Given the description of an element on the screen output the (x, y) to click on. 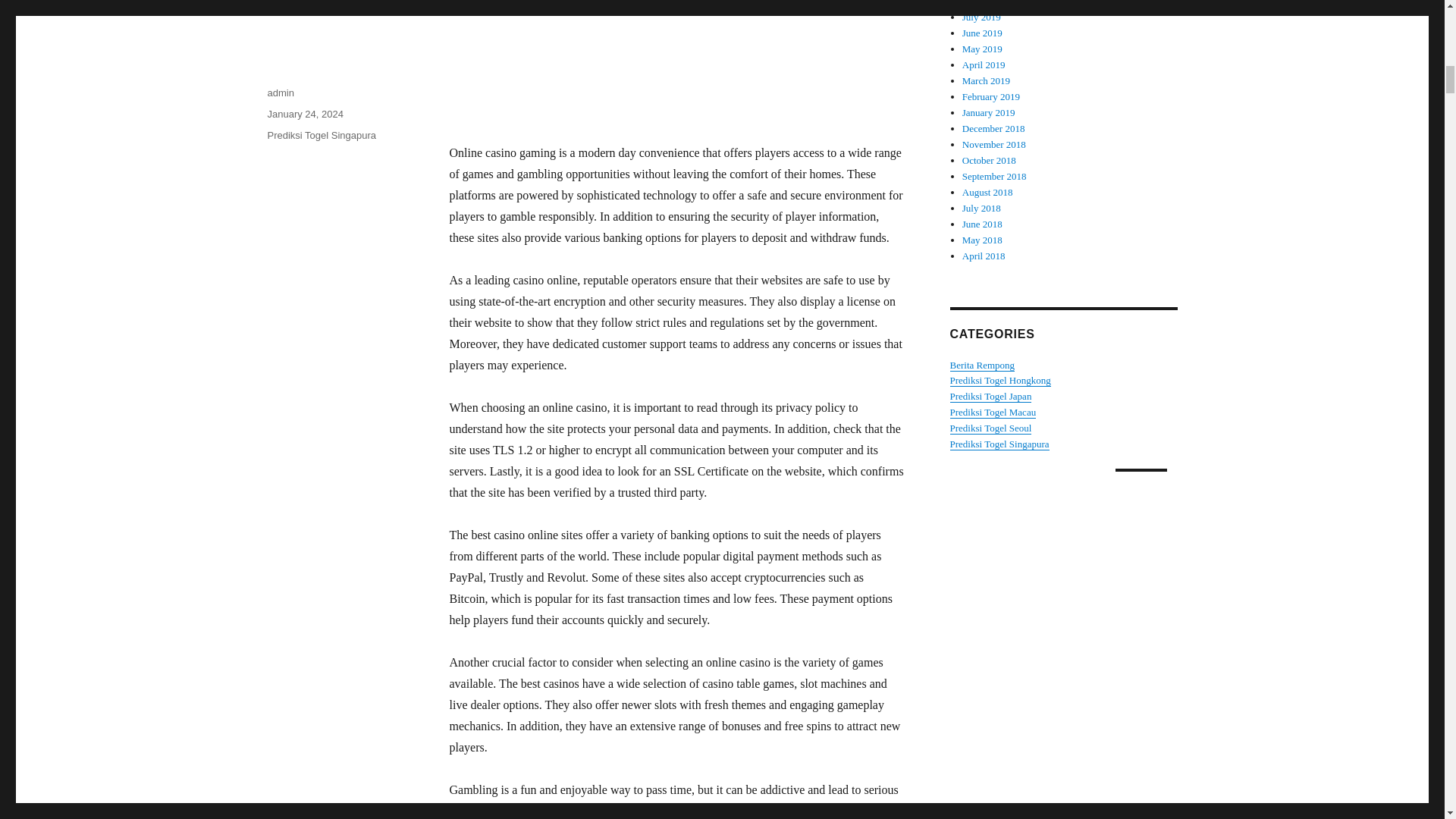
January 24, 2024 (304, 113)
Prediksi Togel Seoul (989, 428)
Prediksi Togel Singapura (998, 443)
Berita Rempong (981, 365)
Prediksi Togel Japan (989, 396)
Prediksi Togel Hongkong (999, 379)
Prediksi Togel Singapura (320, 134)
admin (280, 92)
How to Choose a Casino Online (495, 3)
Prediksi Togel Macau (992, 411)
